Given the description of an element on the screen output the (x, y) to click on. 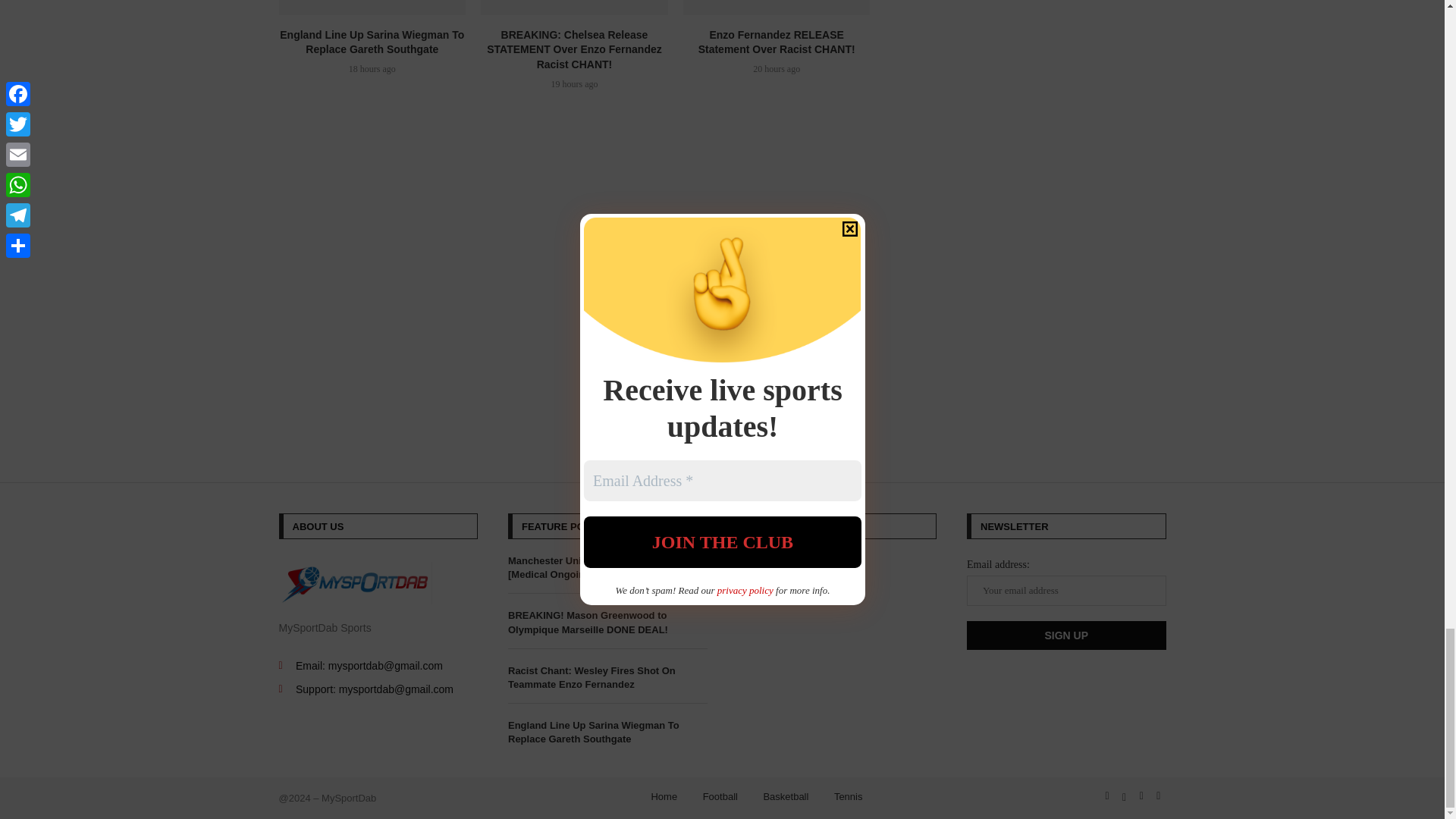
Sign up (1066, 635)
